Given the description of an element on the screen output the (x, y) to click on. 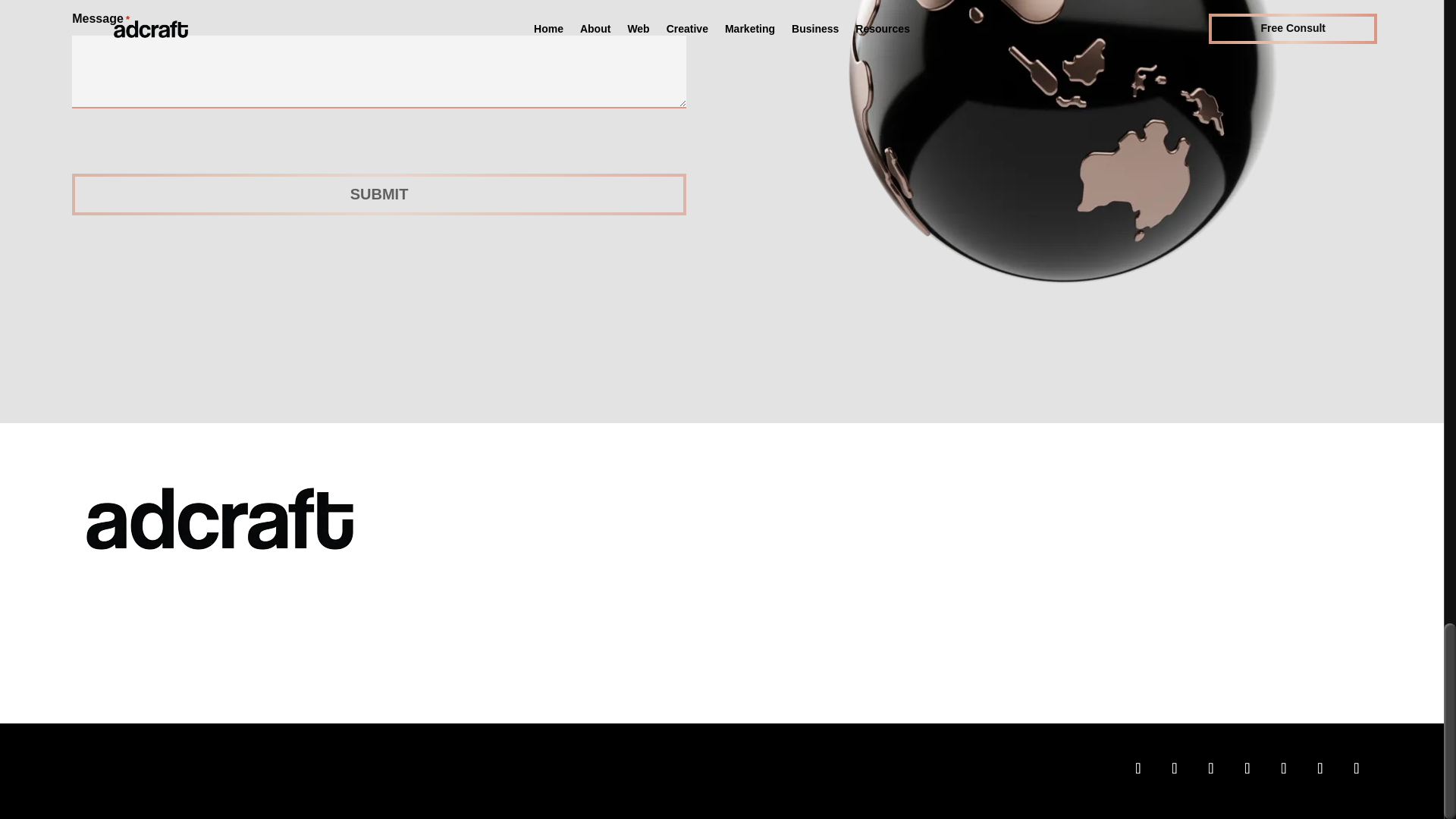
Submit (378, 194)
